Given the description of an element on the screen output the (x, y) to click on. 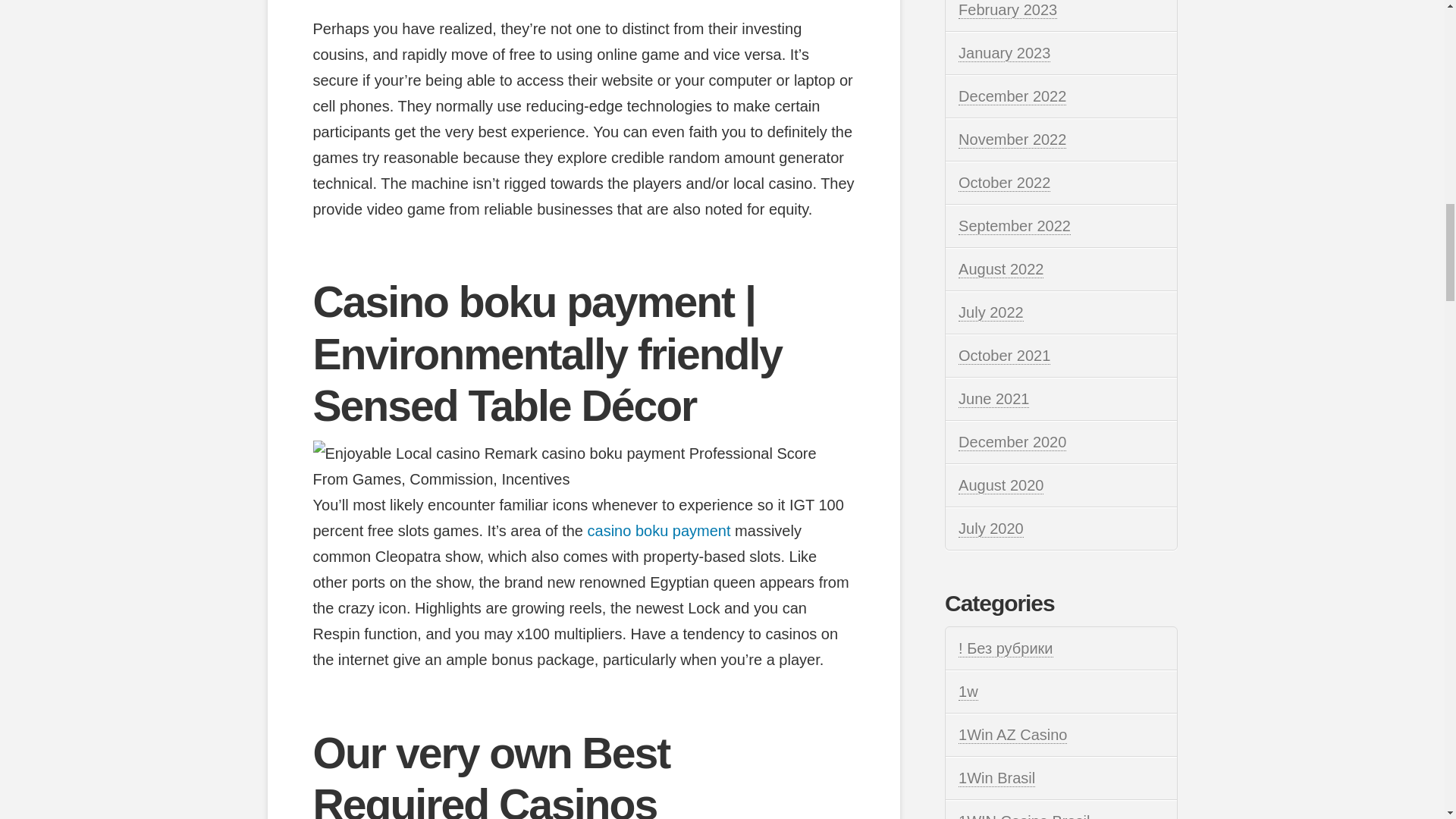
casino boku payment (659, 530)
